Given the description of an element on the screen output the (x, y) to click on. 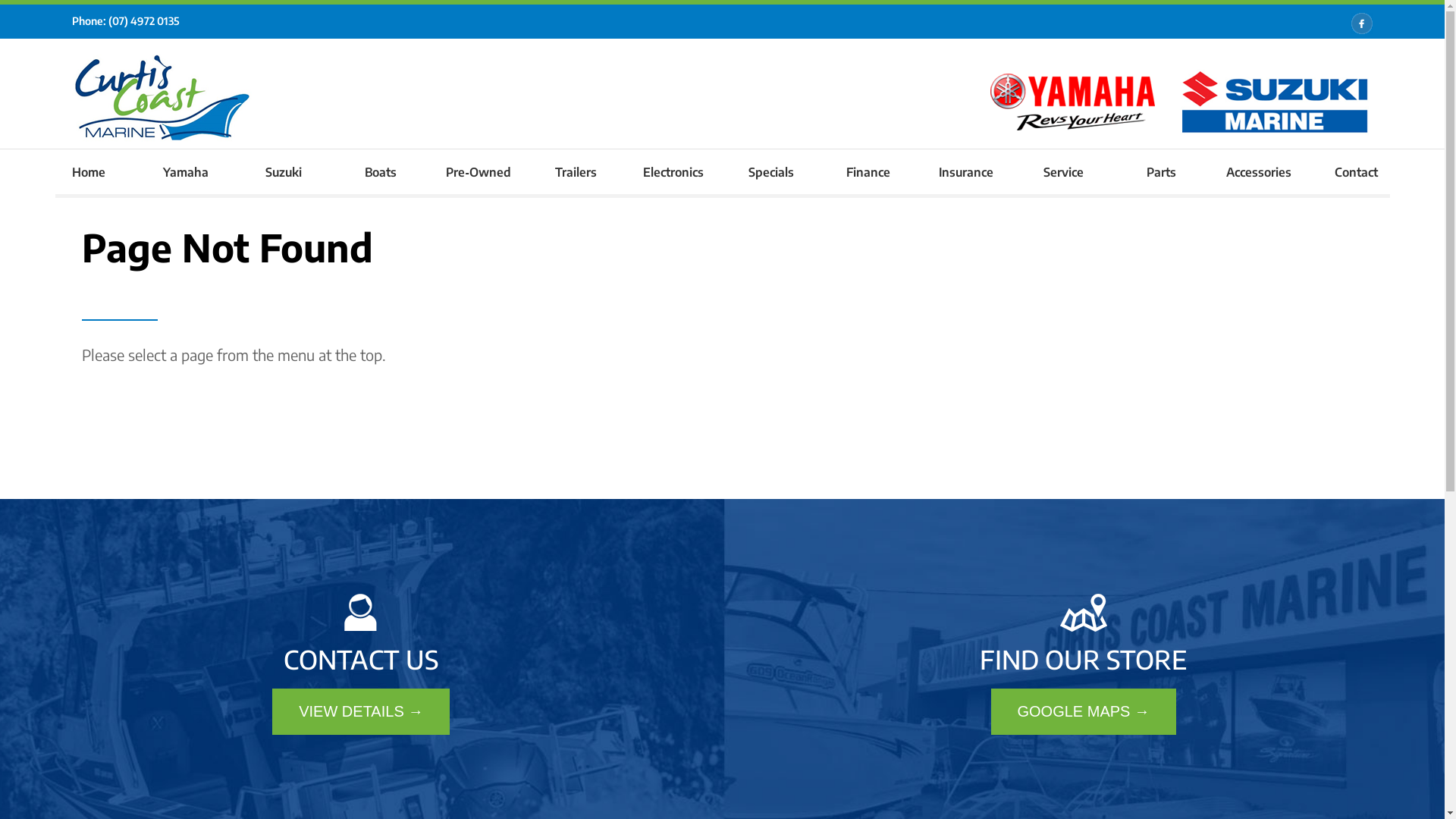
Parts Element type: text (1161, 171)
Accessories Element type: text (1258, 171)
Home Element type: text (88, 171)
Boats Element type: text (380, 171)
Insurance Element type: text (966, 171)
Finance Element type: text (868, 171)
Specials Element type: text (770, 171)
Service Element type: text (1063, 171)
Yamaha Element type: text (186, 171)
Suzuki Element type: text (283, 171)
Electronics Element type: text (673, 171)
Contact Element type: text (1356, 171)
Phone: (07) 4972 0135 Element type: text (125, 20)
Trailers Element type: text (575, 171)
